Given the description of an element on the screen output the (x, y) to click on. 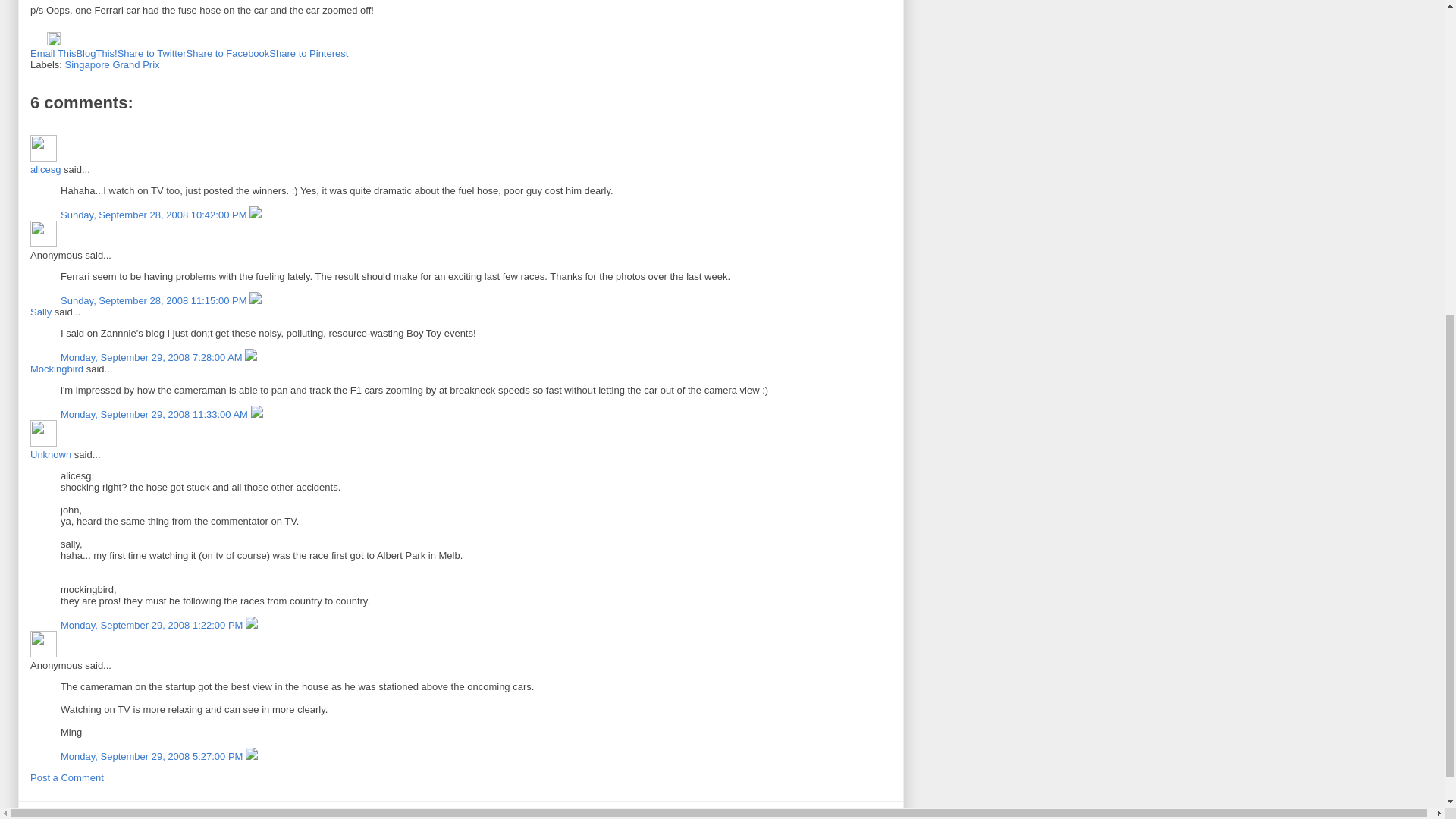
Email This (52, 52)
BlogThis! (95, 52)
Sally (40, 311)
Delete Comment (255, 300)
Monday, September 29, 2008 7:28:00 AM (152, 357)
Share to Pinterest (308, 52)
Unknown (50, 454)
BlogThis! (95, 52)
Share to Twitter (151, 52)
Email Post (38, 41)
